Given the description of an element on the screen output the (x, y) to click on. 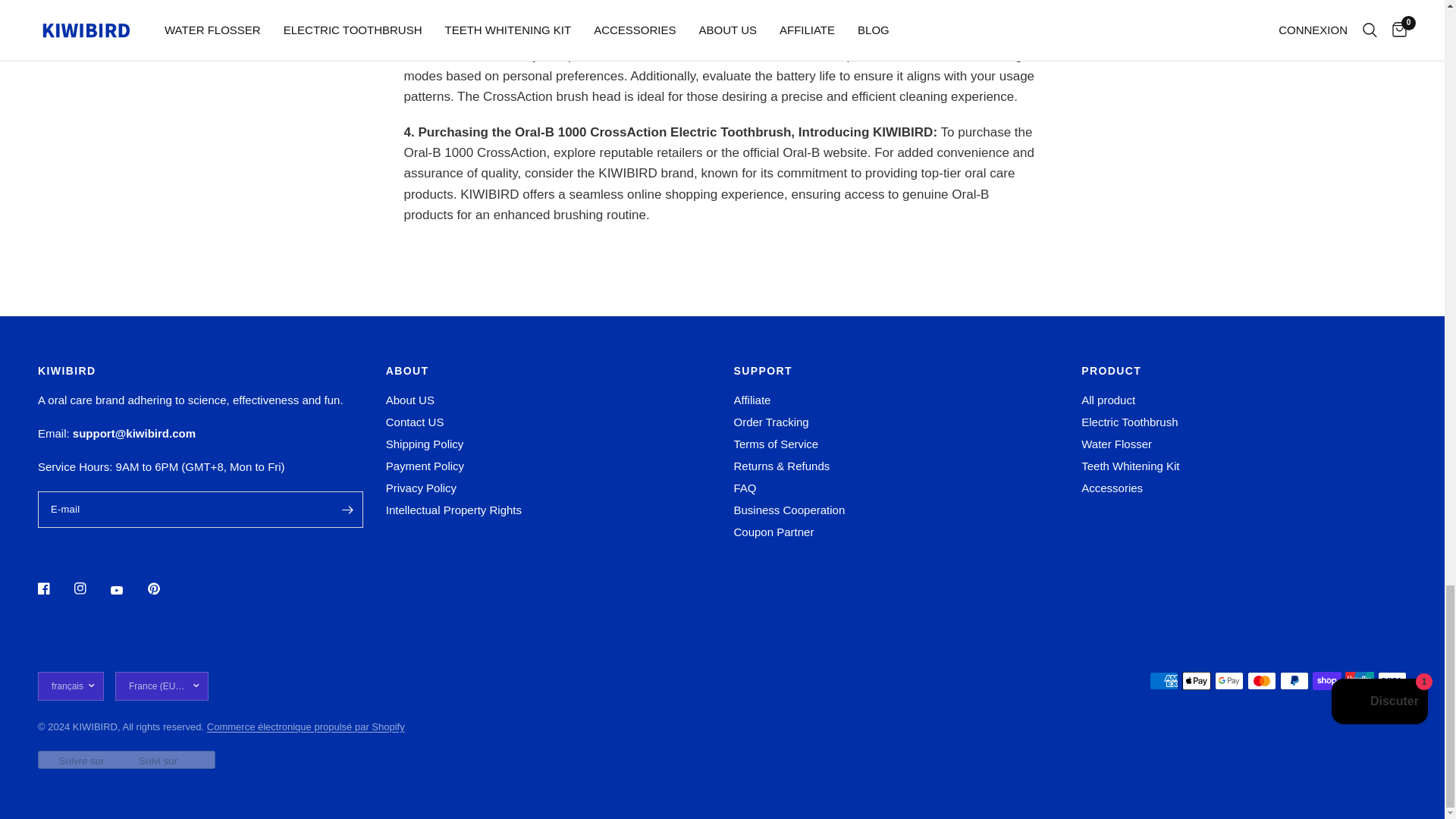
Payment Policy (424, 465)
Shipping Policy (424, 443)
Intellectual Property Rights (453, 509)
Privacy Policy (421, 487)
Privacy Policy (421, 487)
Payment Policy (424, 465)
About US (409, 399)
Contact US (414, 421)
Shipping Policy (424, 443)
ABOUT (548, 370)
Contact US (414, 421)
About US (409, 399)
